Given the description of an element on the screen output the (x, y) to click on. 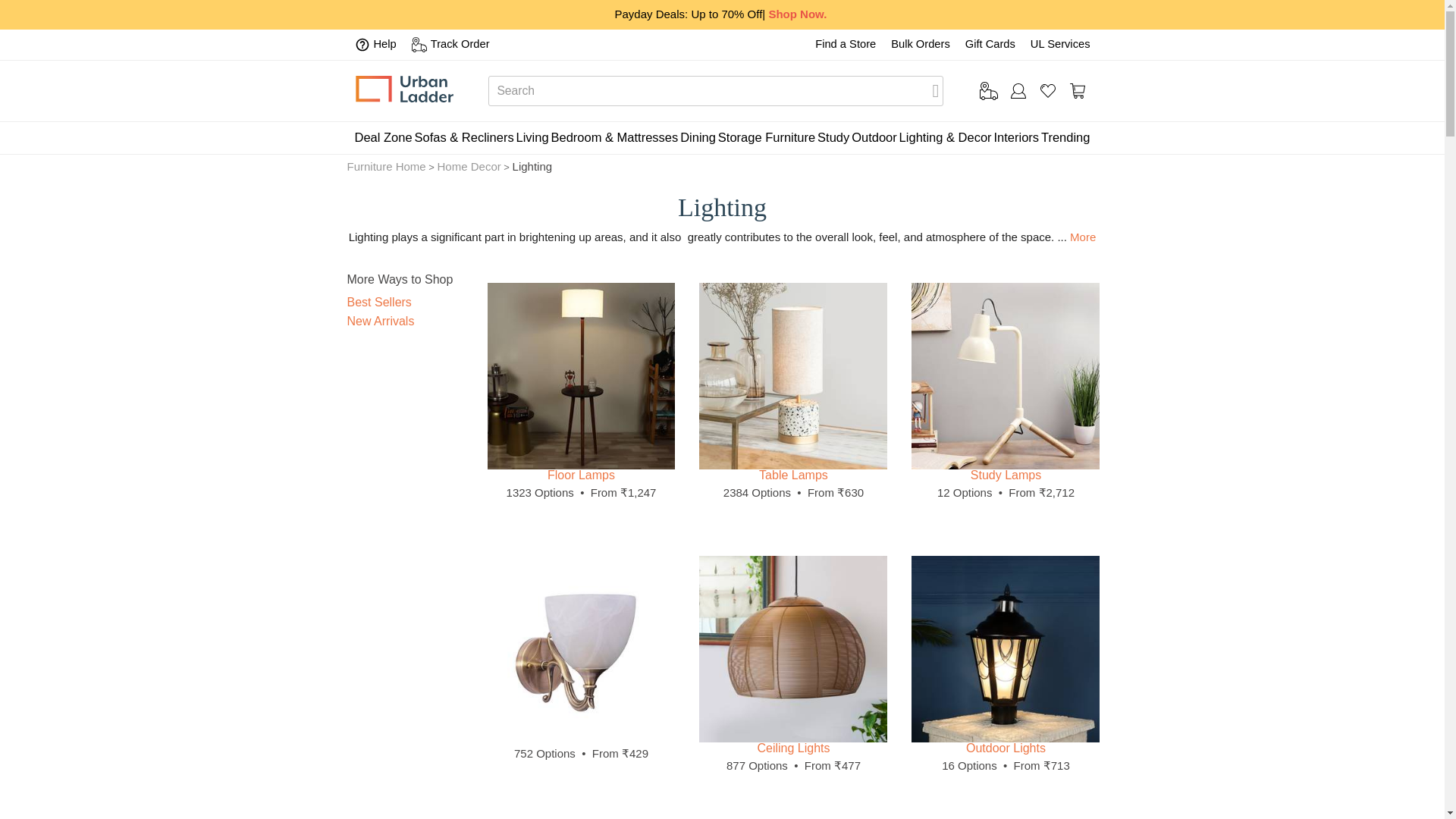
Table Lamps Furniture (792, 376)
Floor Lamps Furniture (580, 376)
Track Order (450, 44)
Help (375, 44)
Cart (1076, 90)
Gift Cards (989, 43)
Track Order (988, 90)
Shop Now. (797, 13)
Wishlist (1048, 90)
Bulk Orders (920, 43)
